Given the description of an element on the screen output the (x, y) to click on. 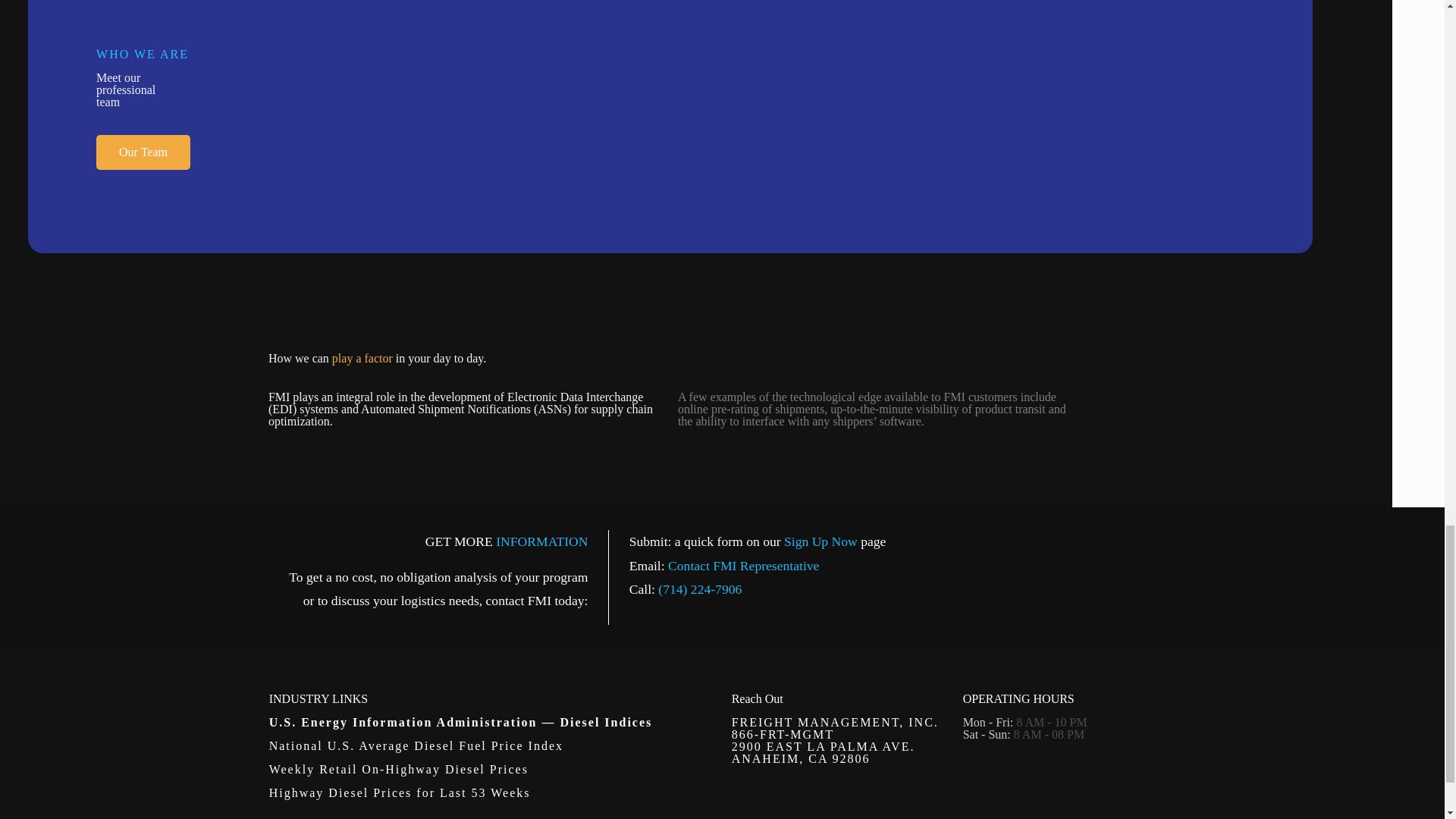
Our Team (143, 152)
Weekly Retail On-Highway Diesel Prices  (400, 768)
Highway Diesel Prices for Last 53 Weeks  (402, 792)
Sign Up Now (820, 540)
National U.S. Average Diesel Fuel Price Index  (418, 745)
Contact FMI Representative (743, 565)
